Given the description of an element on the screen output the (x, y) to click on. 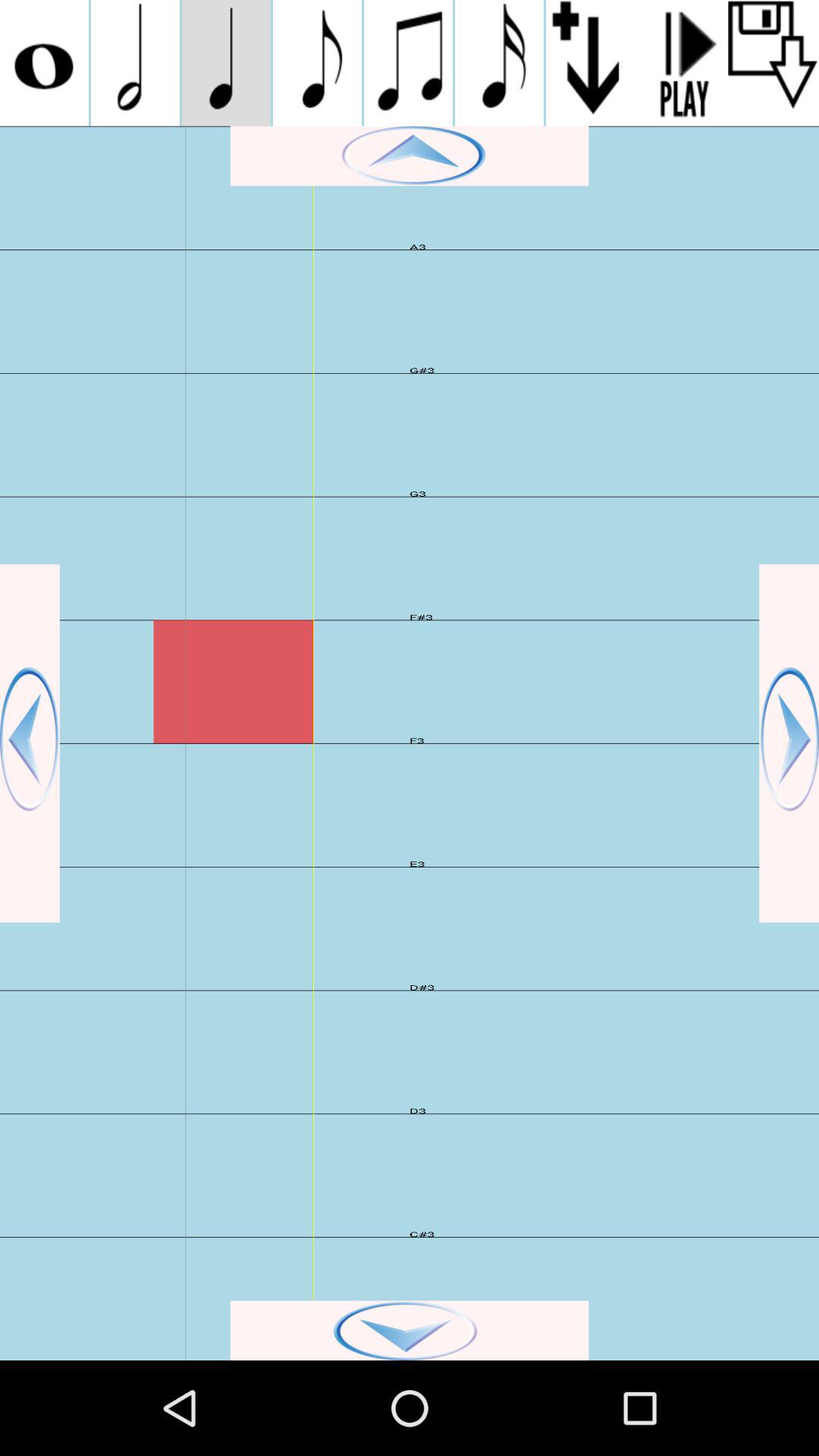
quarter note (226, 63)
